Given the description of an element on the screen output the (x, y) to click on. 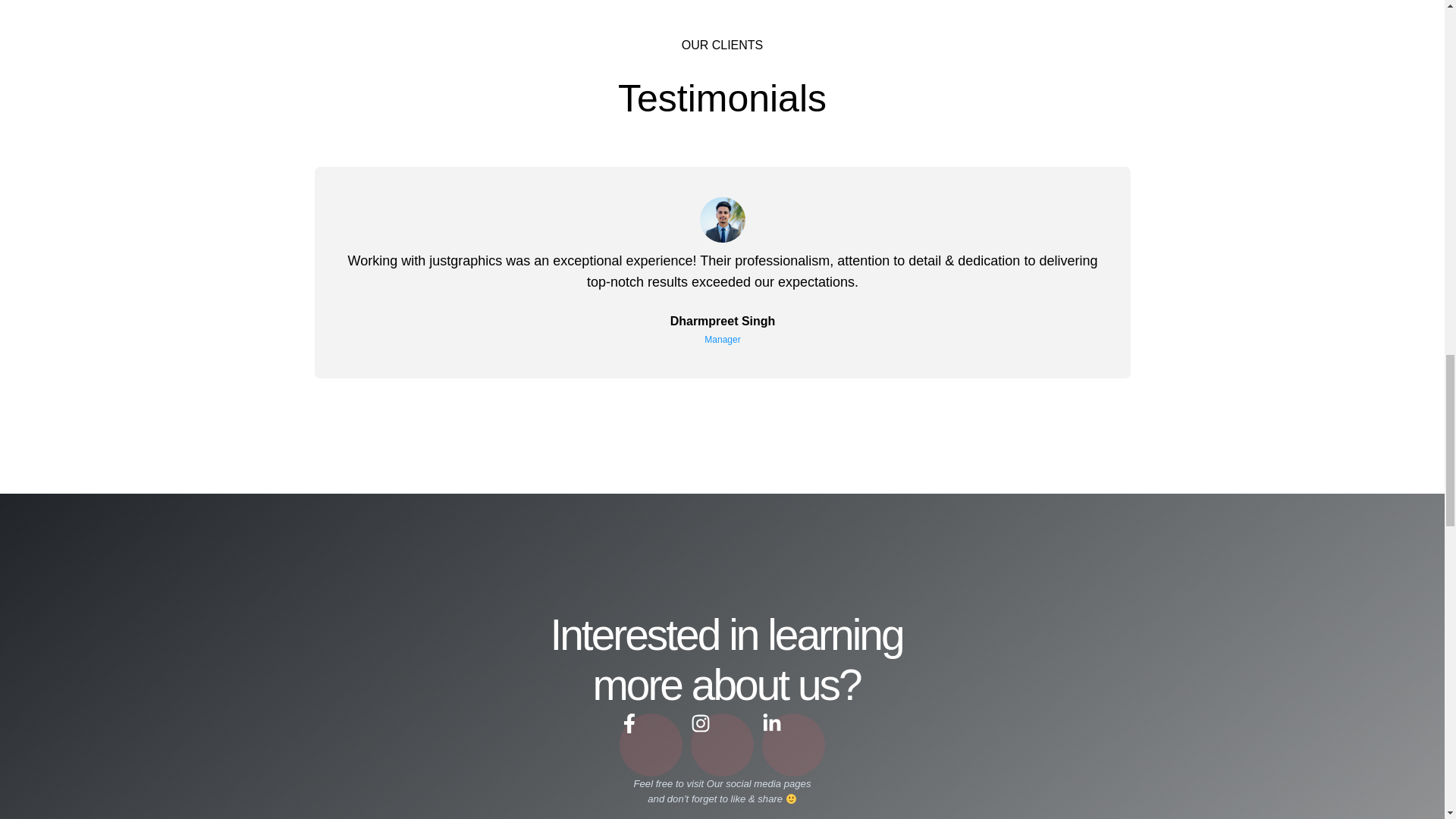
Linkedin-in (793, 744)
Instagram (722, 744)
Facebook-f (651, 744)
